Given the description of an element on the screen output the (x, y) to click on. 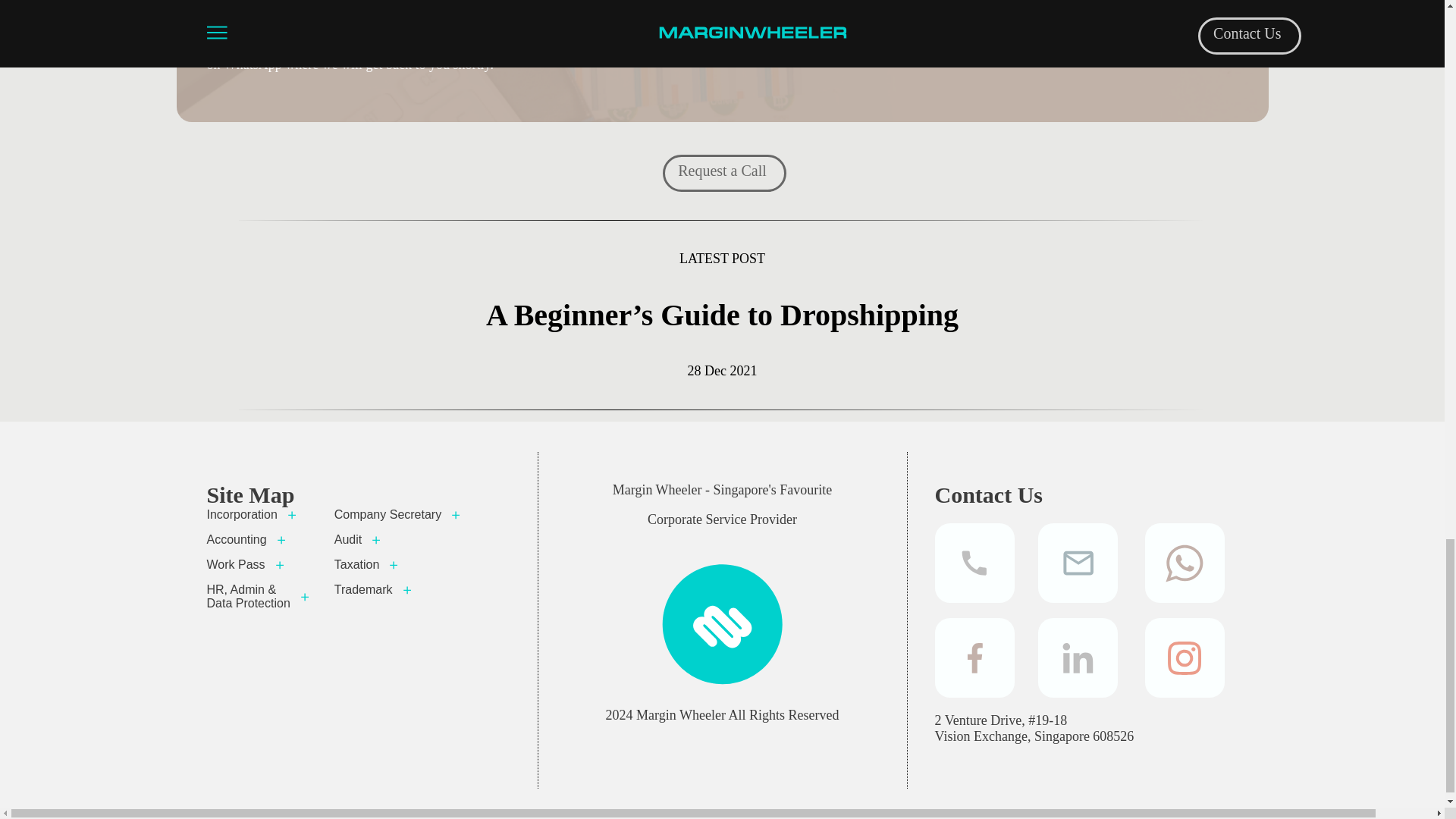
Work Pass (258, 564)
Company Secretary (398, 514)
Trademark (398, 590)
Audit (398, 540)
Incorporation (258, 514)
Taxation (398, 564)
Accounting (258, 540)
Request a Call (722, 170)
